Given the description of an element on the screen output the (x, y) to click on. 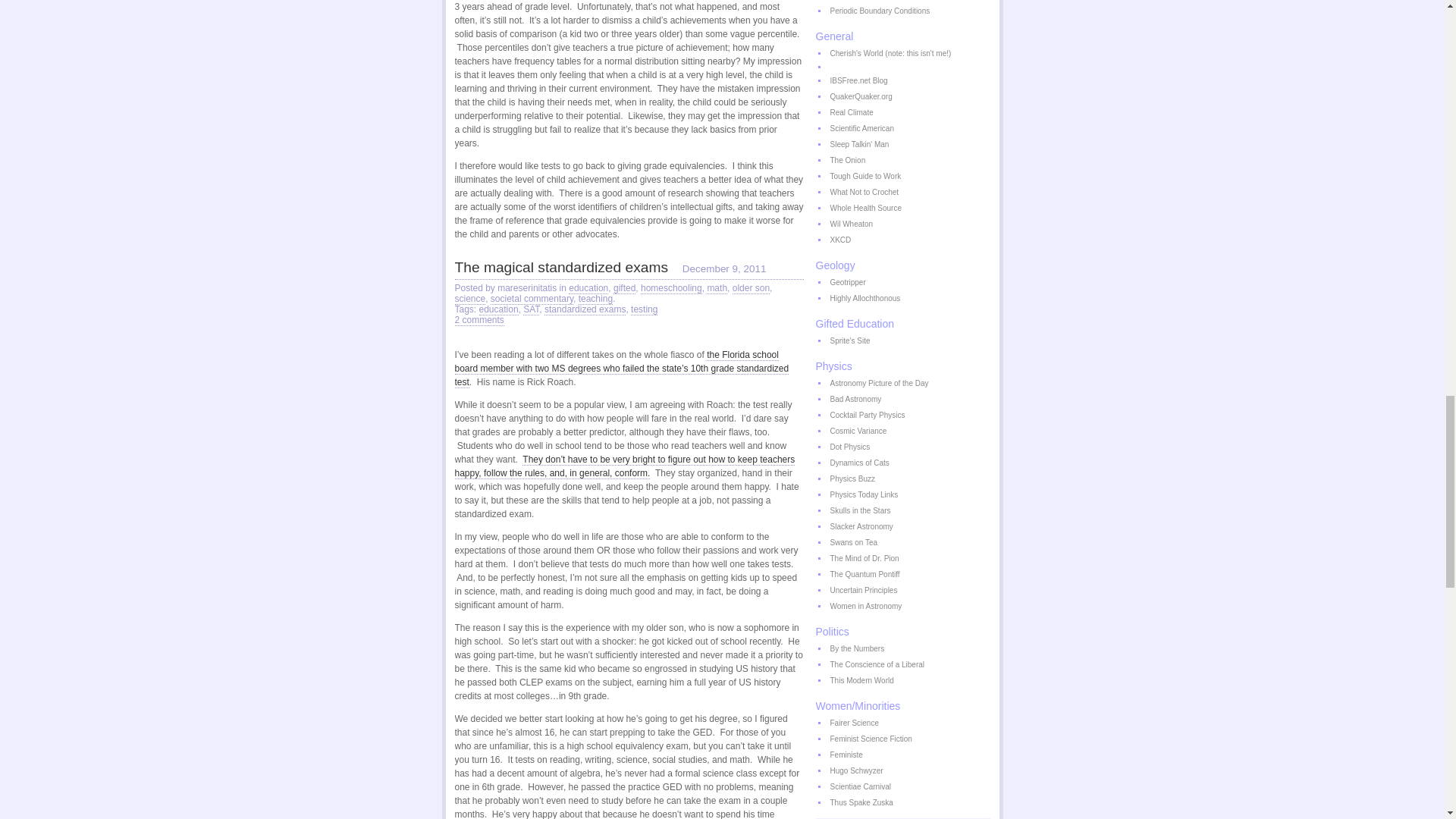
The magical standardized exams (561, 267)
math (716, 288)
SAT (530, 309)
education (498, 309)
older son (751, 288)
teaching (595, 298)
education (588, 288)
standardized exams (585, 309)
societal commentary (531, 298)
testing (644, 309)
gifted (623, 288)
homeschooling (670, 288)
science (470, 298)
